Given the description of an element on the screen output the (x, y) to click on. 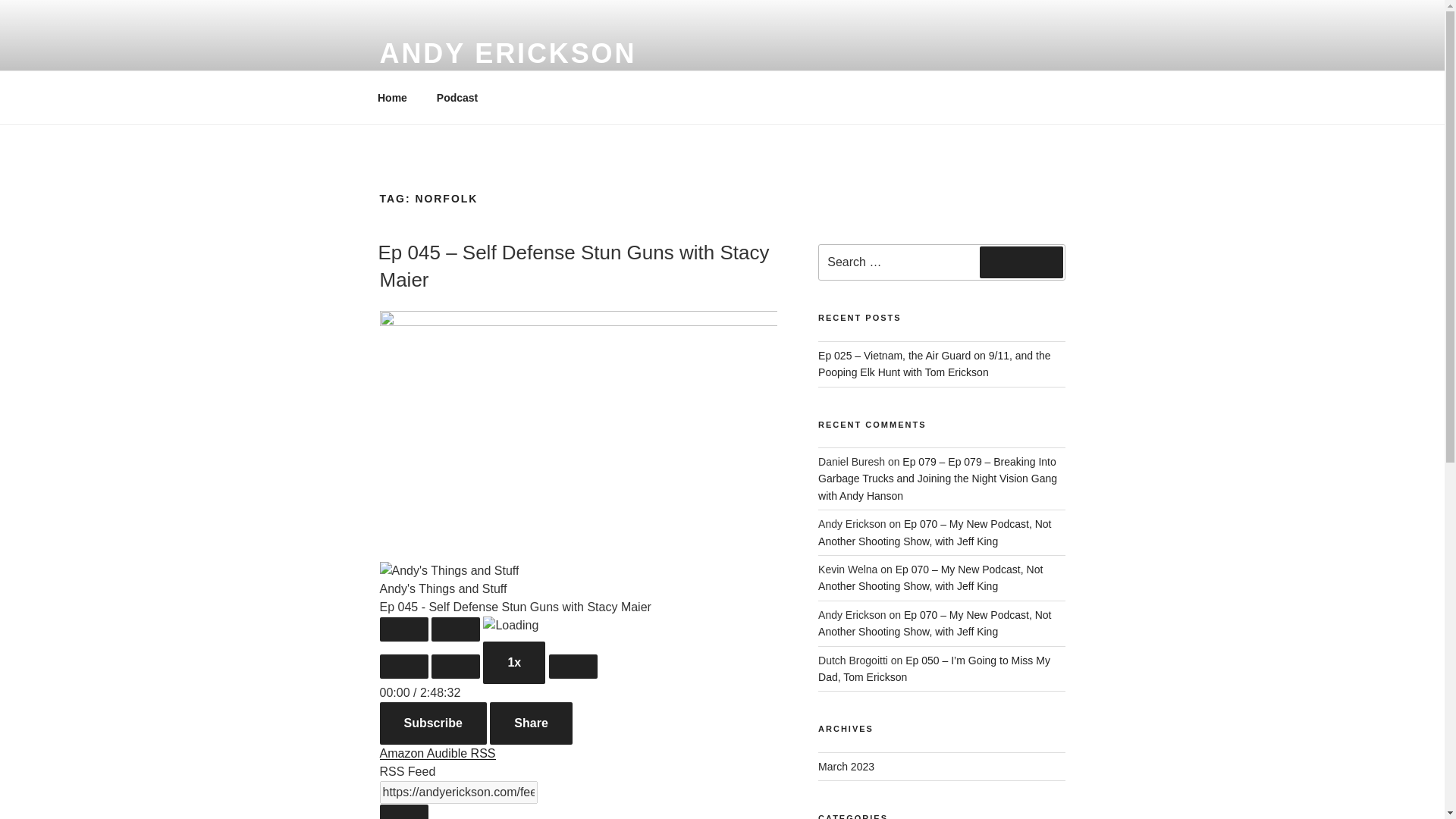
Home (392, 97)
Play (403, 629)
Andy's Things and Stuff (448, 570)
RSS Feed URL (457, 792)
Audible (448, 753)
Subscribe on  Amazon (402, 753)
Share (530, 722)
Subscribe on  Audible (448, 753)
Subscribe (432, 722)
Subscribe (432, 722)
